Given the description of an element on the screen output the (x, y) to click on. 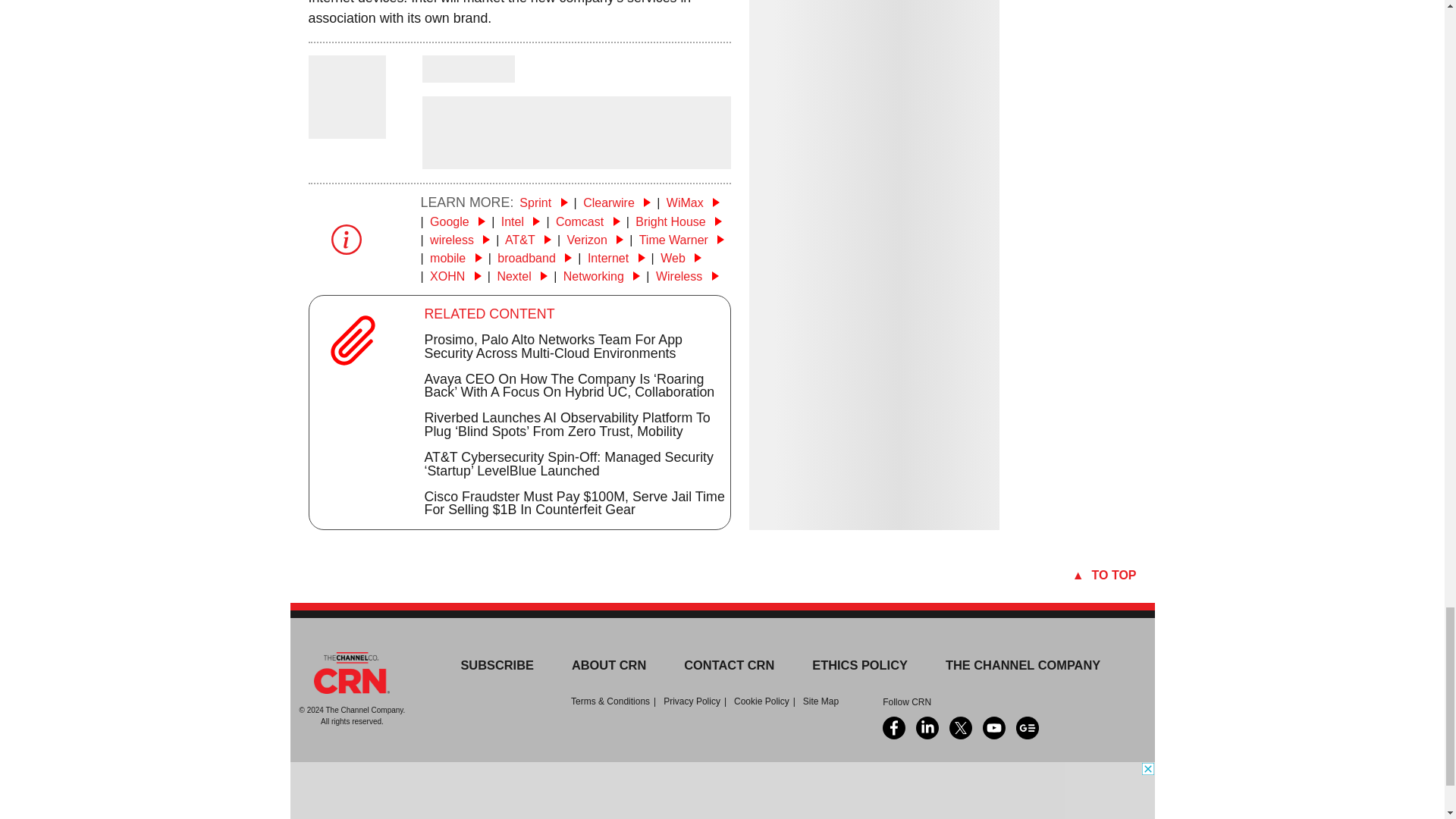
Author Name (467, 68)
Author Name (346, 127)
Google (456, 221)
Sprint (543, 202)
WiMax (692, 202)
Clearwire (616, 202)
